Given the description of an element on the screen output the (x, y) to click on. 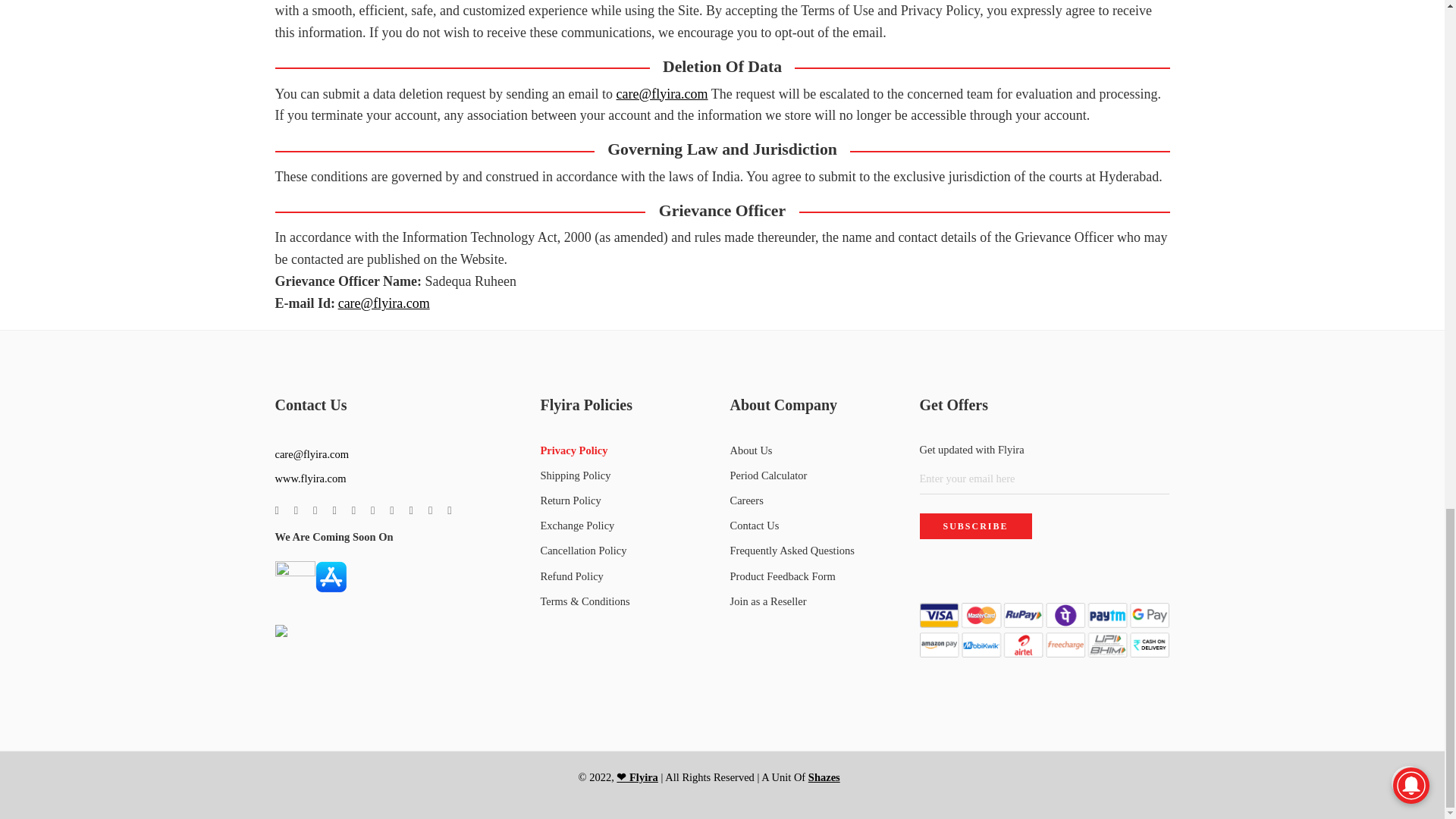
Flyira Customer Care (661, 93)
Refund Policy (627, 576)
Privacy Policy (627, 450)
Cancellation Policy (627, 550)
SUBSCRIBE (974, 525)
Exchange Policy (627, 525)
Return Policy (627, 500)
www.flyira.com (310, 478)
Shipping Policy (627, 475)
